Given the description of an element on the screen output the (x, y) to click on. 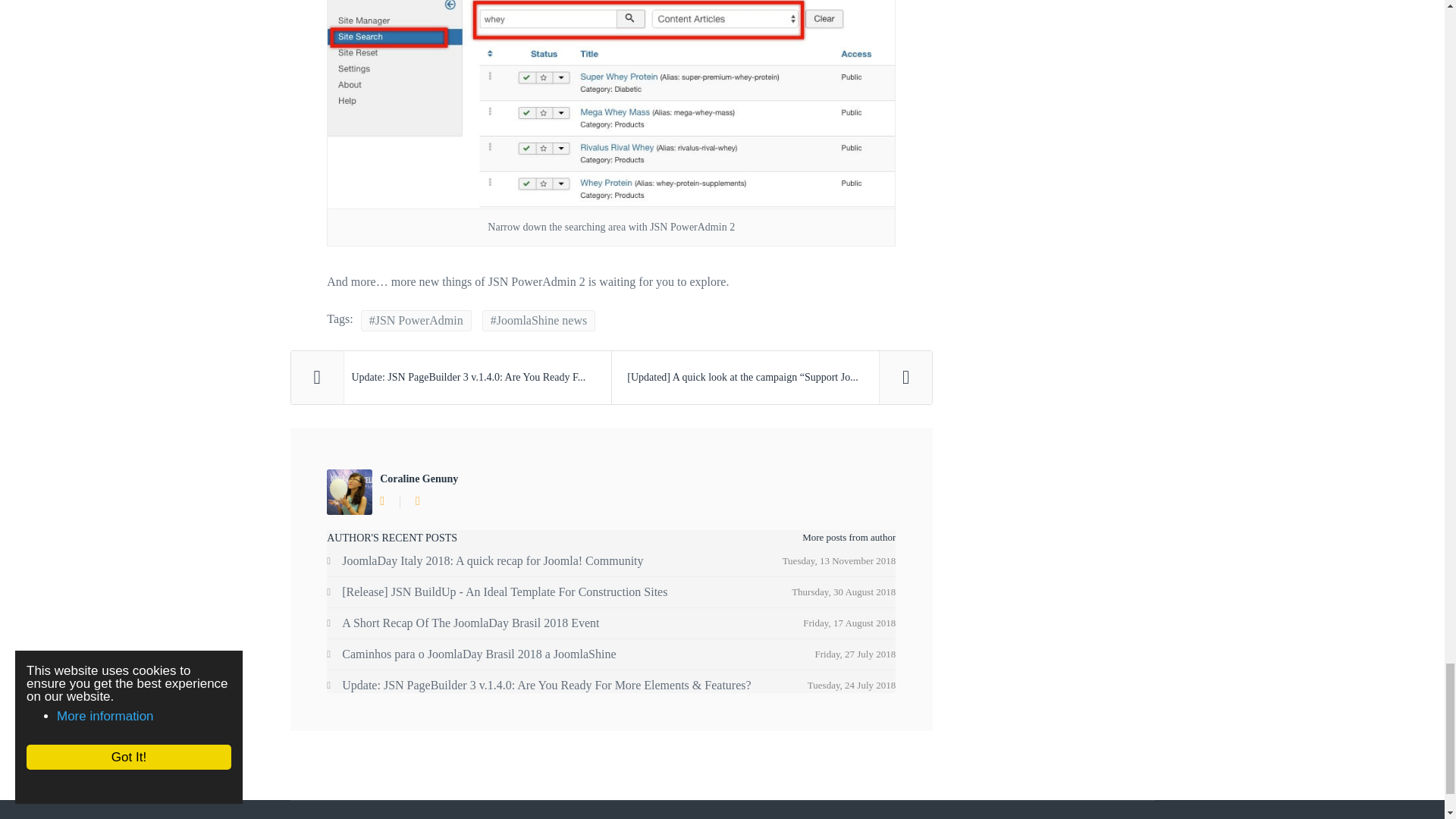
Update: JSN PageBuilder 3 v.1.4.0: Are You Ready F... (451, 377)
Coraline Genuny (419, 478)
JSN PowerAdmin (416, 320)
JoomlaShine news (538, 320)
